Given the description of an element on the screen output the (x, y) to click on. 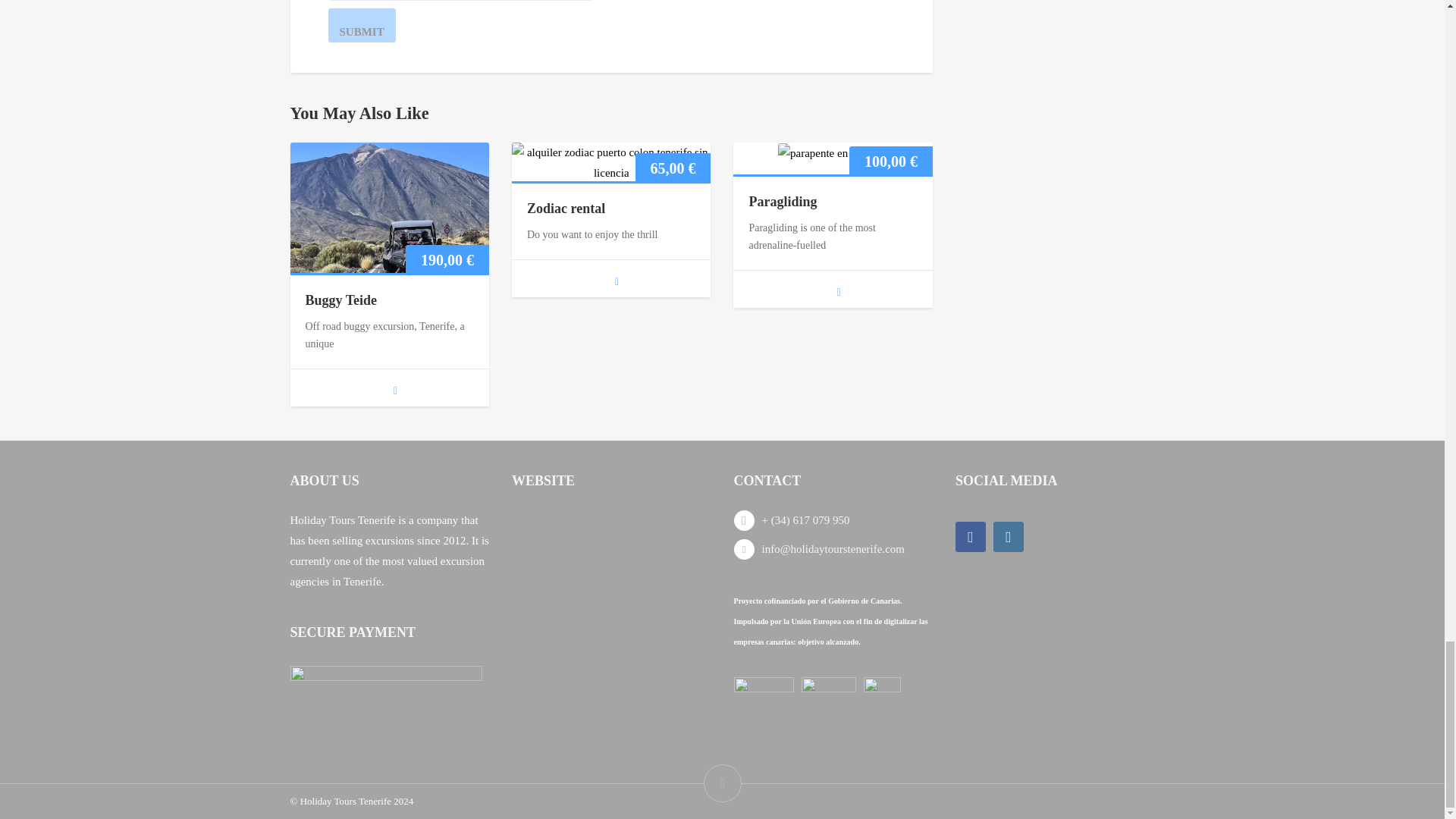
Submit (360, 25)
Buggy Teide (340, 299)
Submit (360, 25)
